Given the description of an element on the screen output the (x, y) to click on. 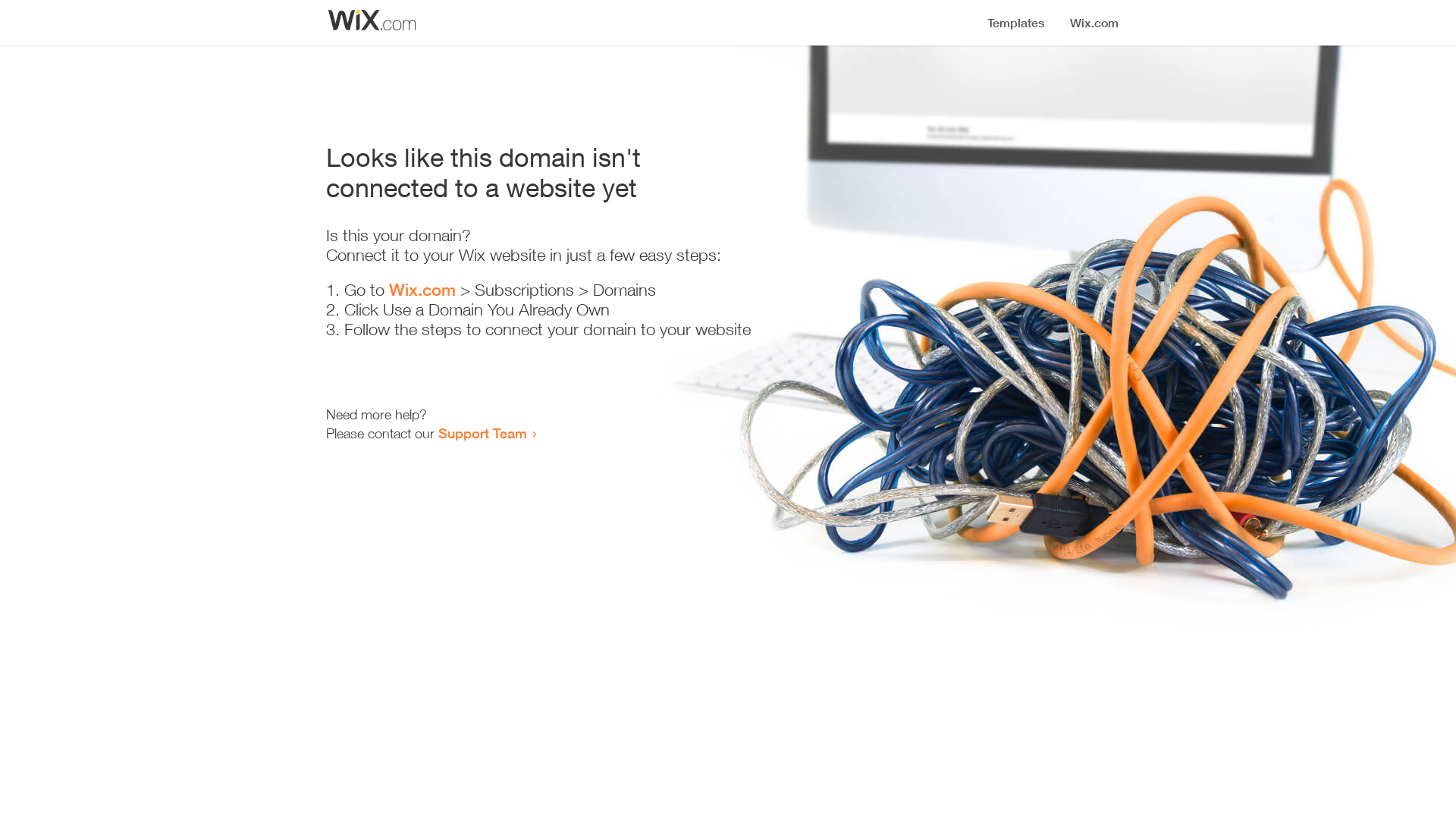
Wix.com Element type: text (422, 289)
Support Team Element type: text (482, 432)
